Given the description of an element on the screen output the (x, y) to click on. 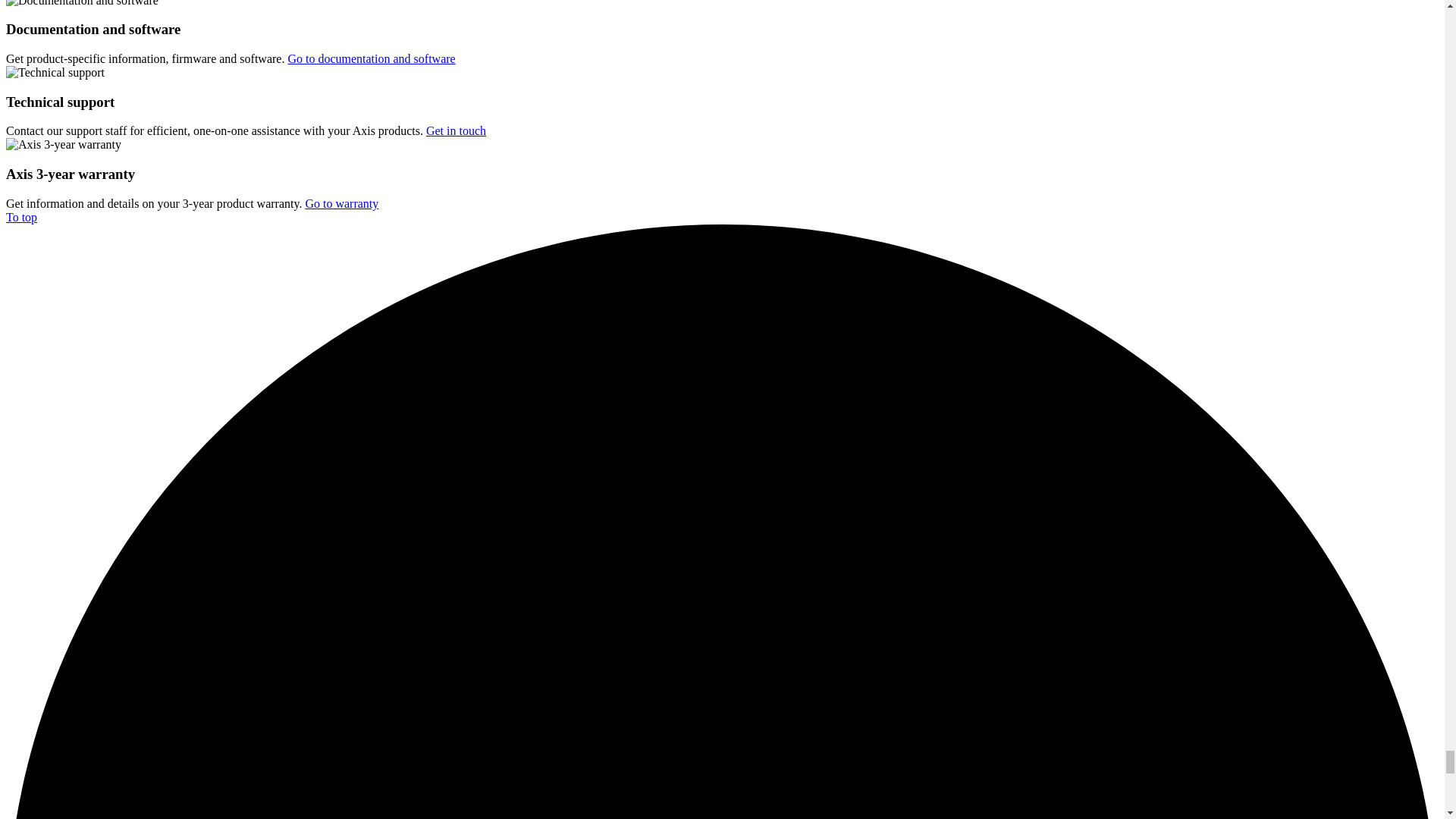
To top (21, 216)
